Given the description of an element on the screen output the (x, y) to click on. 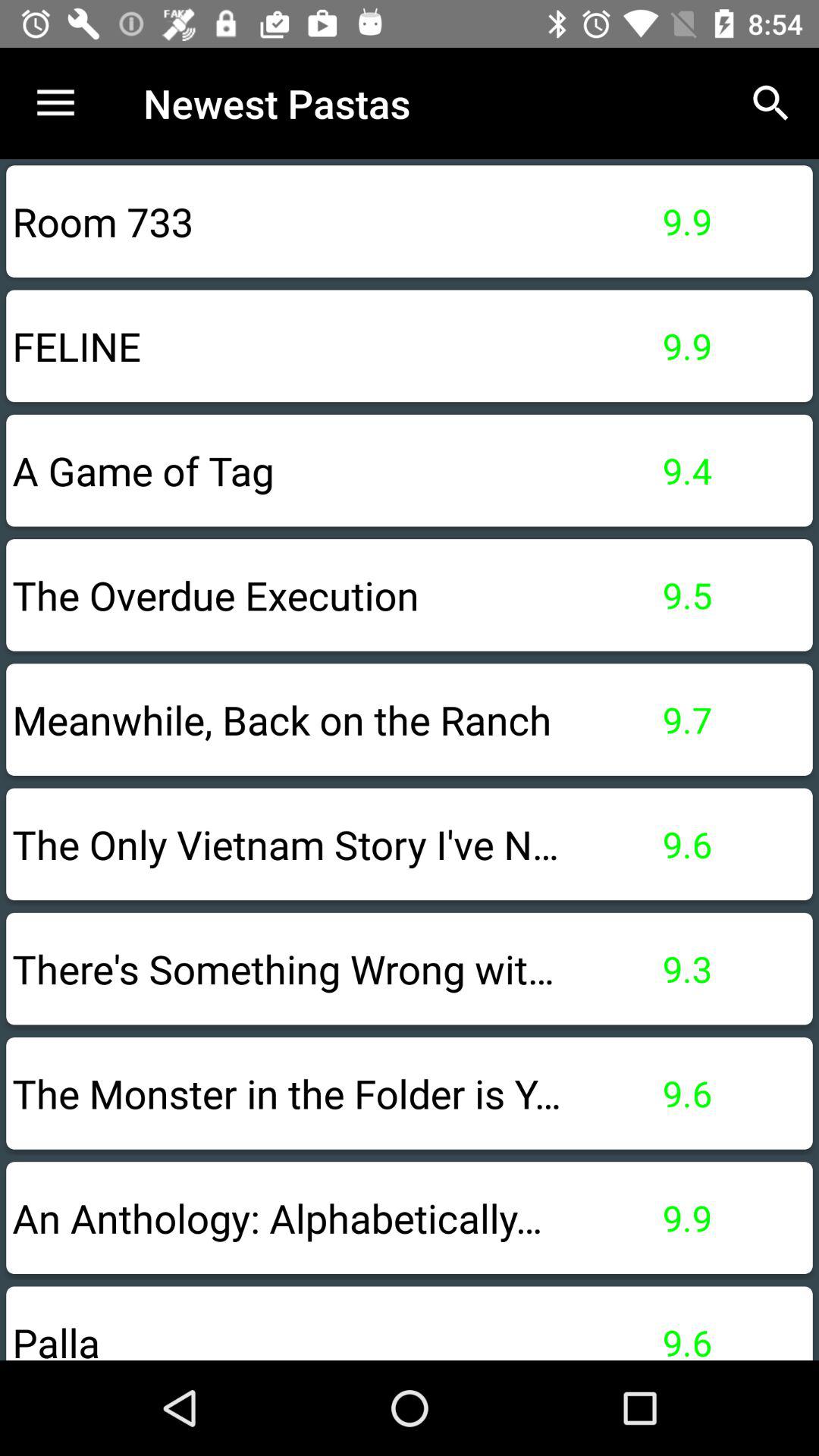
open the item to the right of newest pastas item (771, 103)
